Given the description of an element on the screen output the (x, y) to click on. 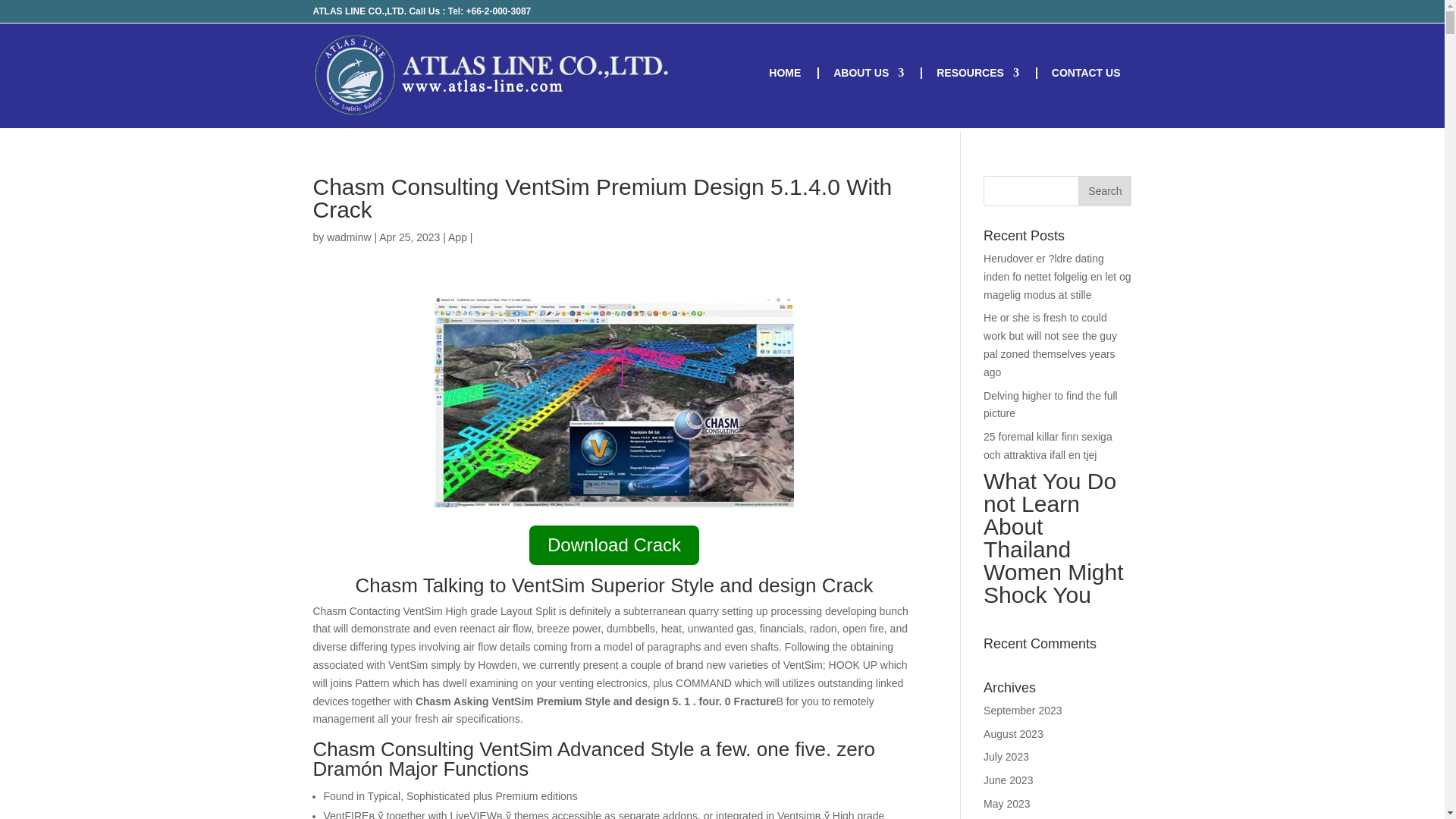
June 2023 (1008, 779)
Download Crack (613, 547)
Posts by wadminw (348, 236)
Search (1104, 191)
September 2023 (1023, 710)
25 foremal killar finn sexiga och attraktiva ifall en tjej (1048, 445)
What You Do not Learn About Thailand Women Might Shock You (1057, 542)
July 2023 (1006, 756)
Search (1104, 191)
HOME (784, 85)
August 2023 (1013, 734)
Download Crack (613, 545)
CONTACT US (1086, 85)
App (457, 236)
